Given the description of an element on the screen output the (x, y) to click on. 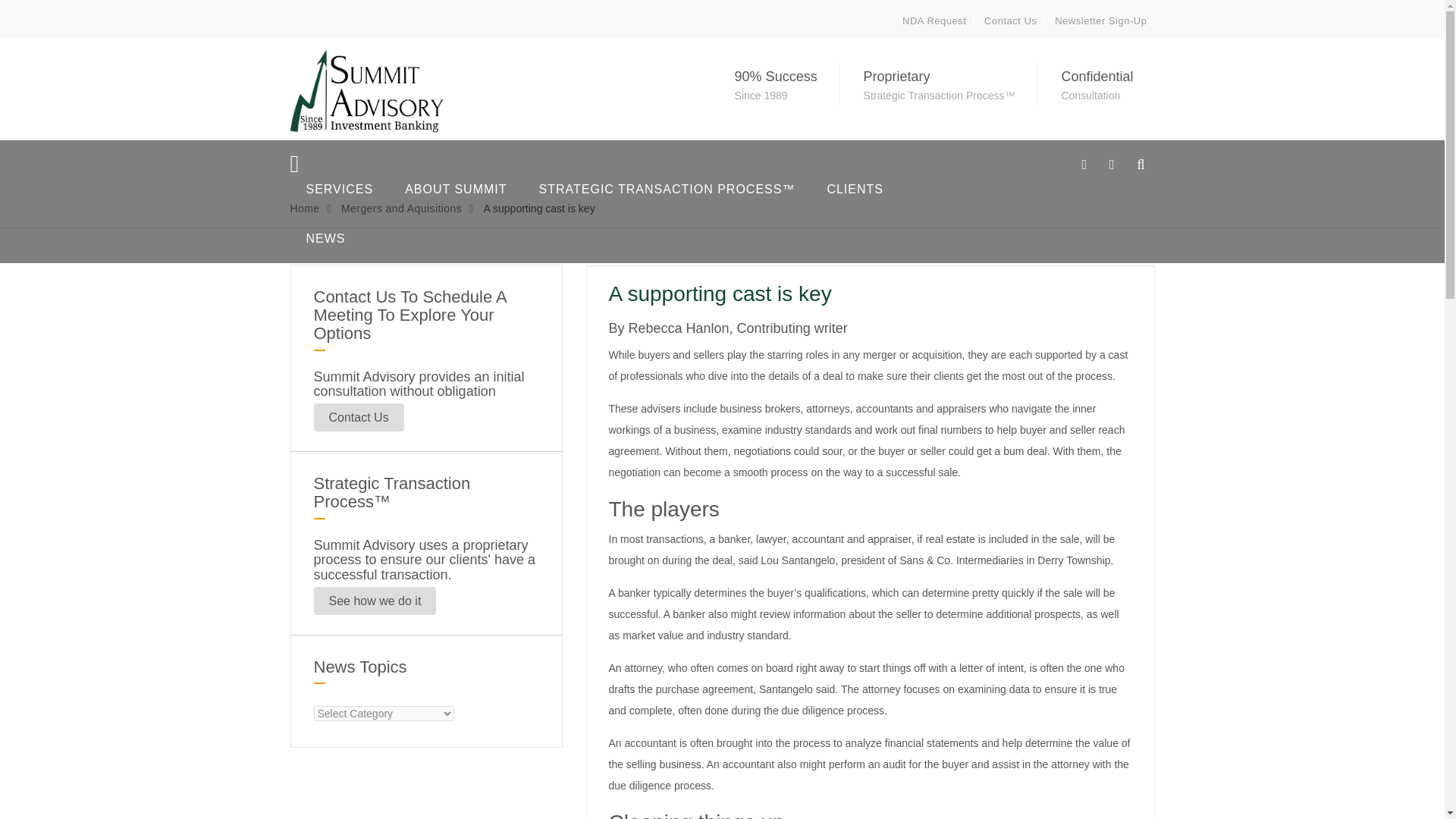
Contact Us (359, 417)
SERVICES (338, 188)
NEWS (325, 237)
Home (303, 208)
CLIENTS (854, 188)
See how we do it (375, 601)
NDA Request (934, 20)
Newsletter Sign-Up (1100, 20)
Mergers and Aquisitions (400, 208)
ABOUT SUMMIT (455, 188)
